Given the description of an element on the screen output the (x, y) to click on. 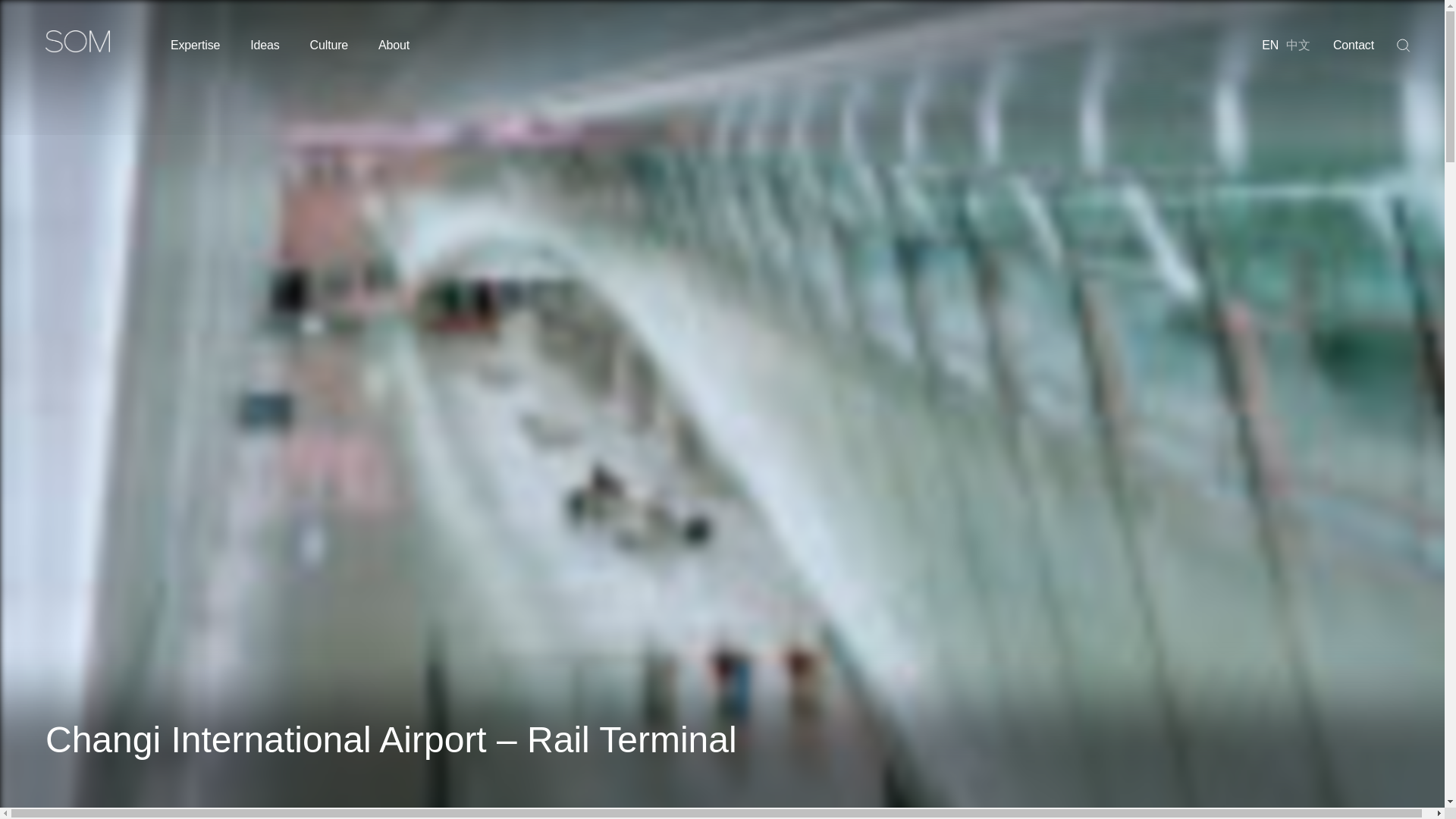
About (393, 44)
Expertise (194, 44)
Culture (328, 44)
Ideas (264, 44)
